Given the description of an element on the screen output the (x, y) to click on. 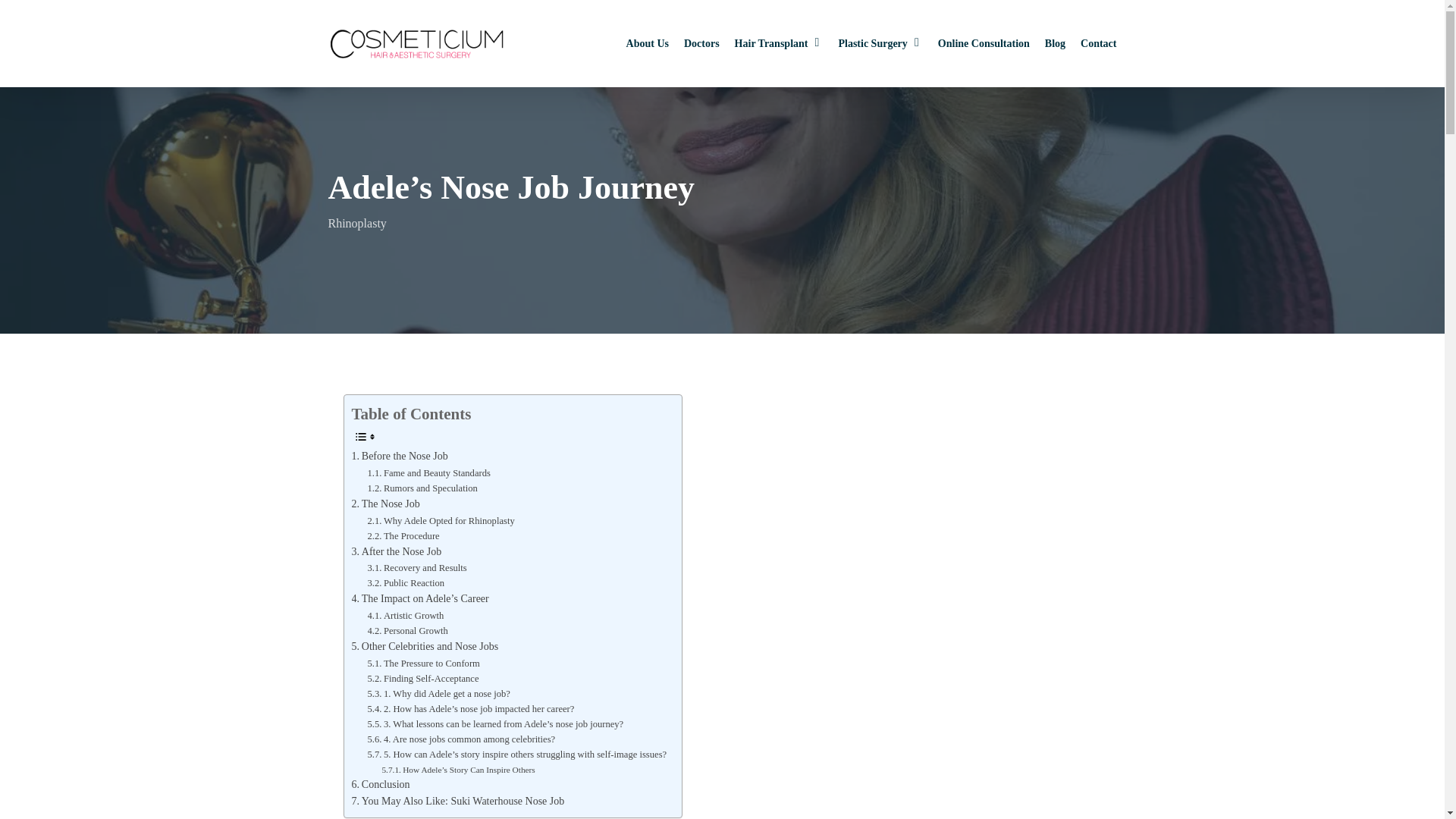
Doctors (701, 43)
The Pressure to Conform (422, 663)
Recovery and Results (415, 567)
Before the Nose Job (400, 456)
Personal Growth (406, 630)
The Nose Job (386, 504)
Fame and Beauty Standards (427, 473)
Finding Self-Acceptance (422, 678)
Artistic Growth (405, 615)
The Procedure (402, 535)
Public Reaction (405, 582)
Hair Transplant (779, 43)
After the Nose Job (397, 551)
Why Adele Opted for Rhinoplasty (439, 519)
Other Celebrities and Nose Jobs (425, 646)
